Given the description of an element on the screen output the (x, y) to click on. 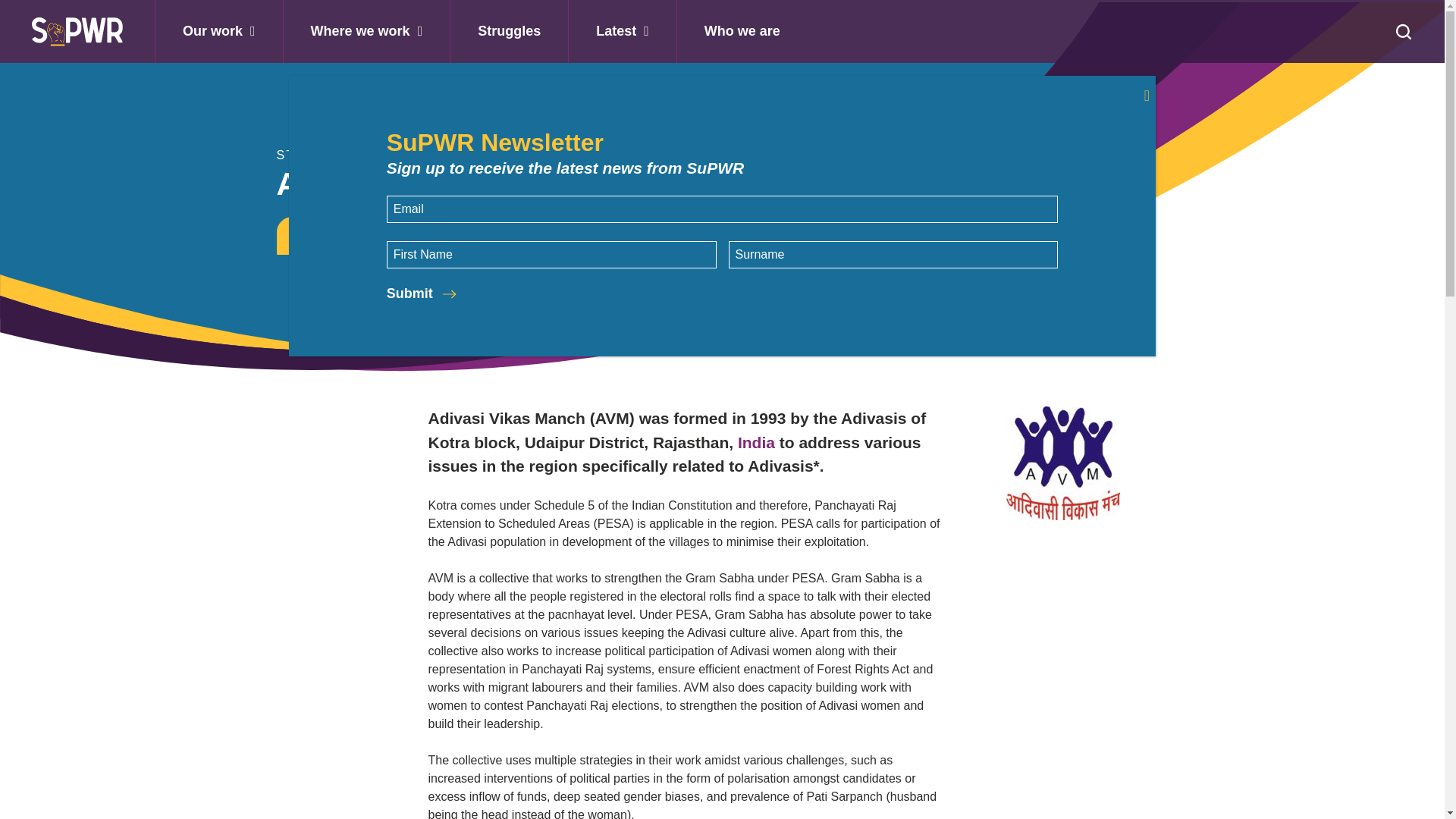
Struggles (508, 31)
Who we are (742, 31)
Search (22, 9)
Where we work (367, 31)
INDIA (311, 235)
India (756, 442)
Our work (219, 31)
Latest (622, 31)
